Given the description of an element on the screen output the (x, y) to click on. 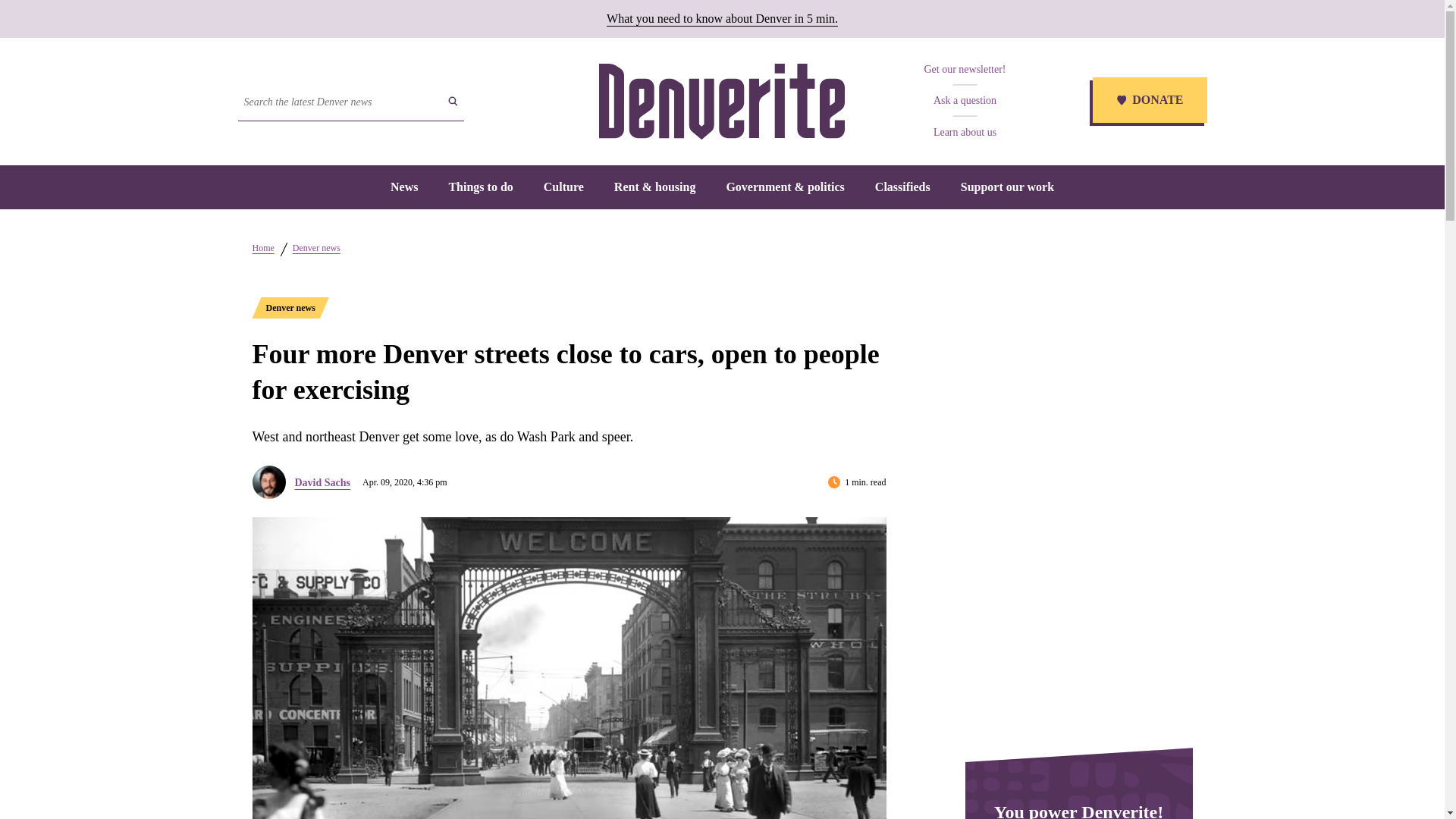
Learn about us (964, 132)
Things to do (480, 186)
Home (262, 247)
DONATE (1148, 101)
Denver news (290, 307)
Culture (563, 186)
Denver news (316, 247)
Classifieds (902, 186)
Denverite (721, 101)
What you need to know about Denver in 5 min. (722, 18)
